Given the description of an element on the screen output the (x, y) to click on. 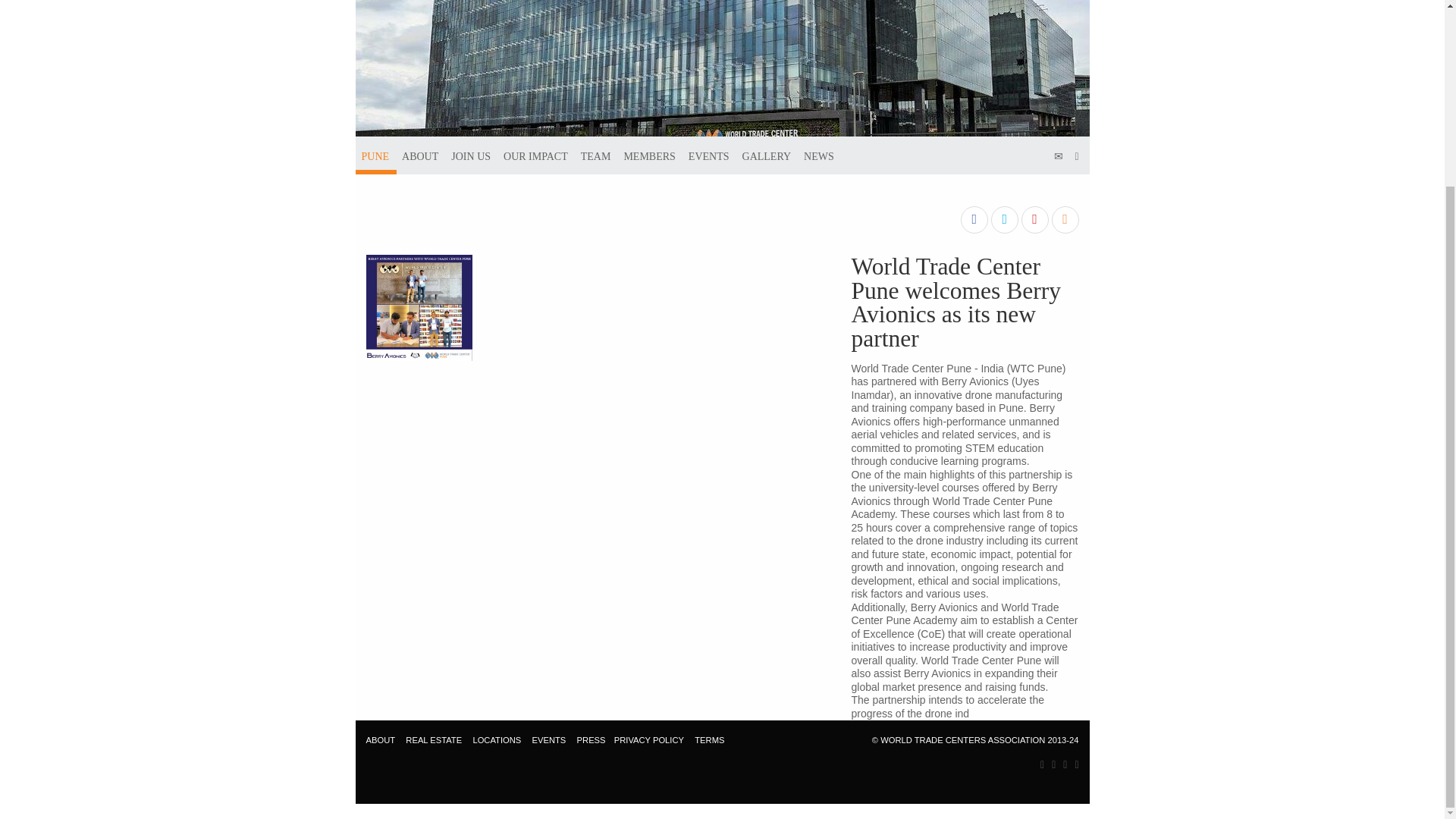
OUR IMPACT (535, 155)
MEMBERS (648, 155)
EVENTS (708, 155)
GALLERY (767, 155)
NEWS (818, 155)
JOIN US (470, 155)
TEAM (595, 155)
PUNE (374, 155)
ABOUT (419, 155)
Berry Avionics signs MoU with WTC Pune (418, 306)
ABOUT (379, 739)
